Given the description of an element on the screen output the (x, y) to click on. 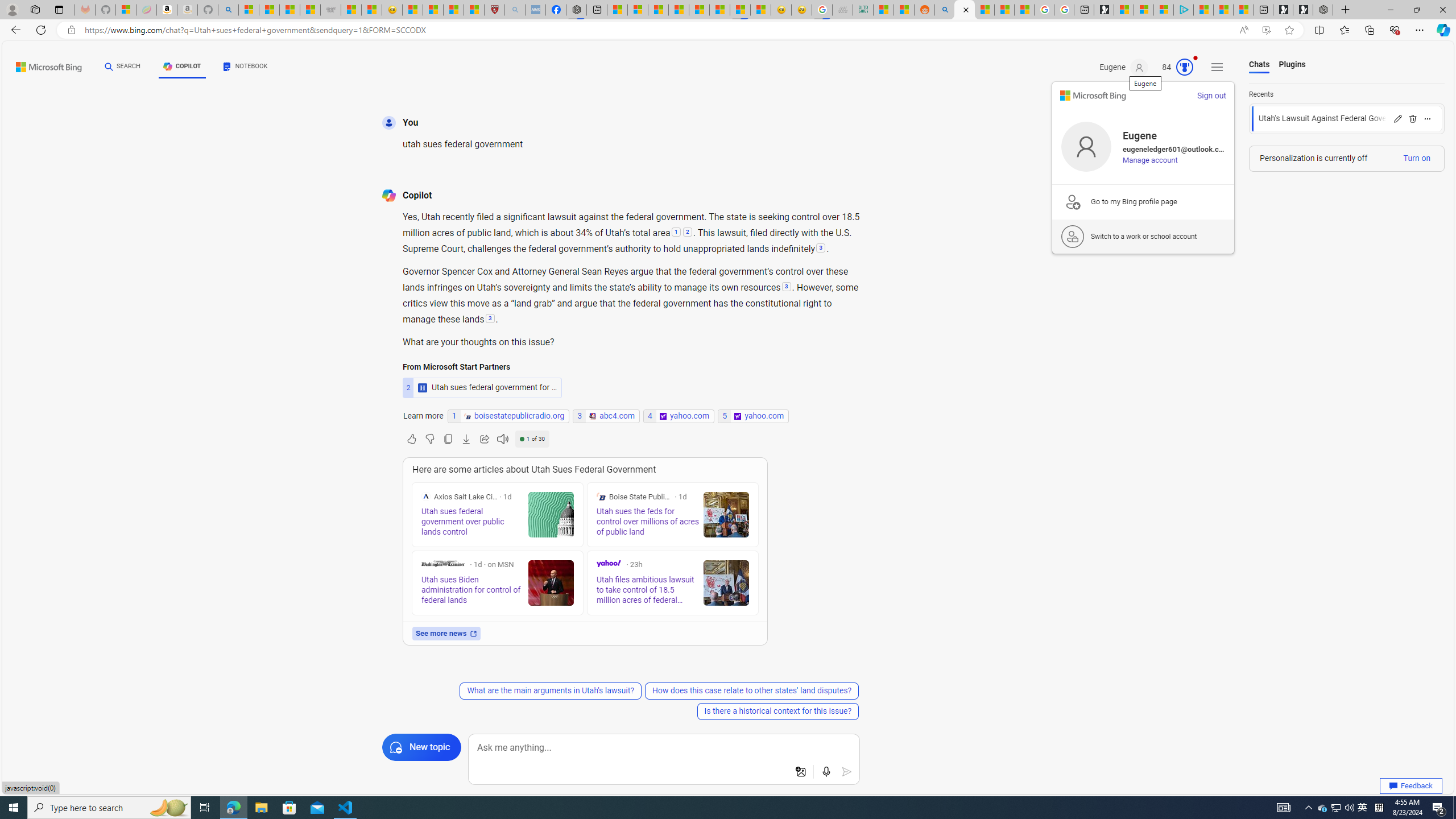
These 3 Stocks Pay You More Than 5% to Own Them (1242, 9)
Load chat (1346, 118)
Settings and quick links (1217, 67)
Rename (1397, 118)
Use microphone (826, 771)
Submit (847, 771)
